Given the description of an element on the screen output the (x, y) to click on. 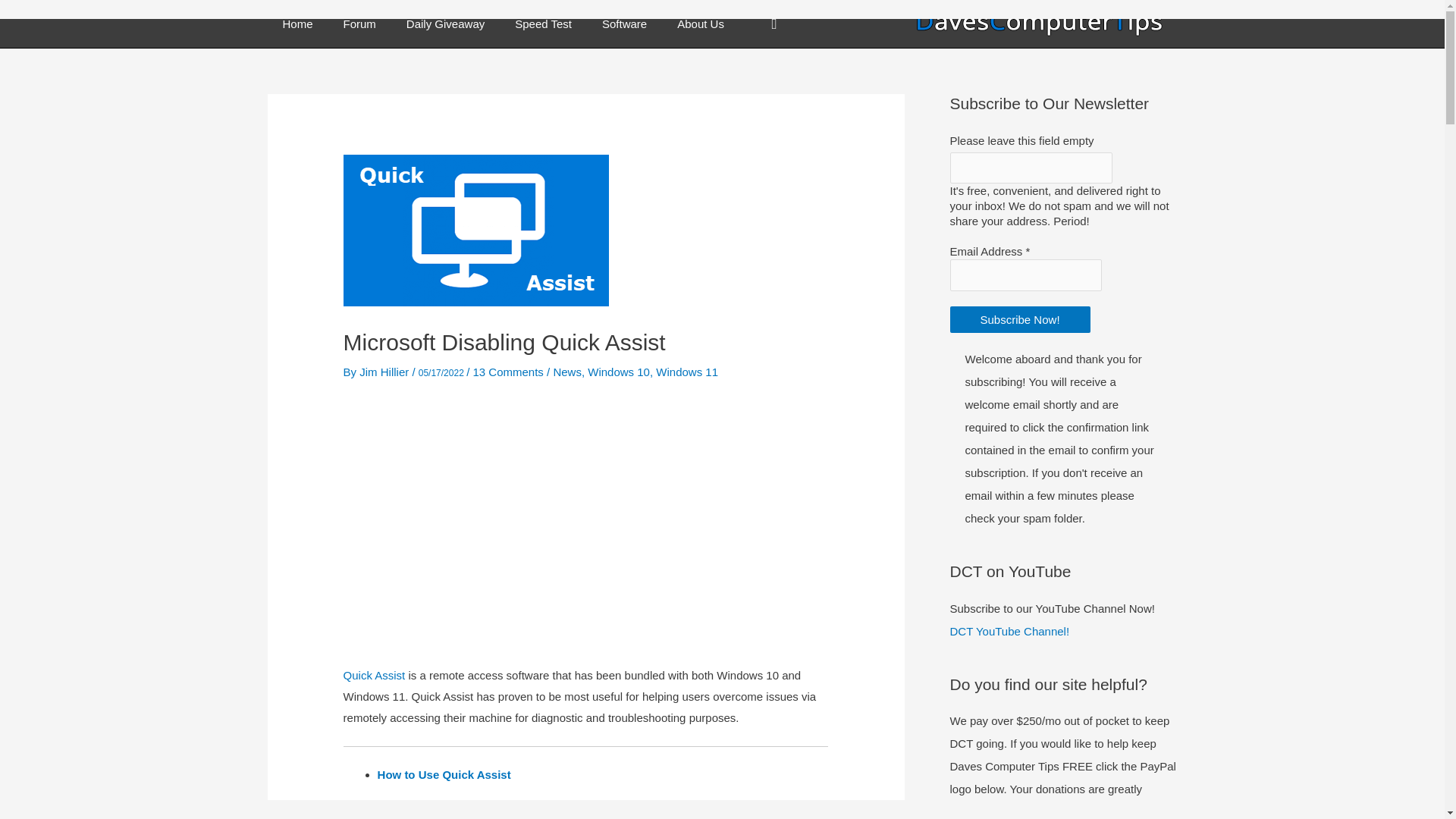
Email Address (1024, 275)
Home (296, 23)
About Us (700, 23)
Forum (360, 23)
Software (624, 23)
View all posts by Jim Hillier (385, 371)
Daily Giveaway (445, 23)
3rd party ad content (585, 524)
Subscribe Now! (1019, 319)
Speed Test (542, 23)
